Given the description of an element on the screen output the (x, y) to click on. 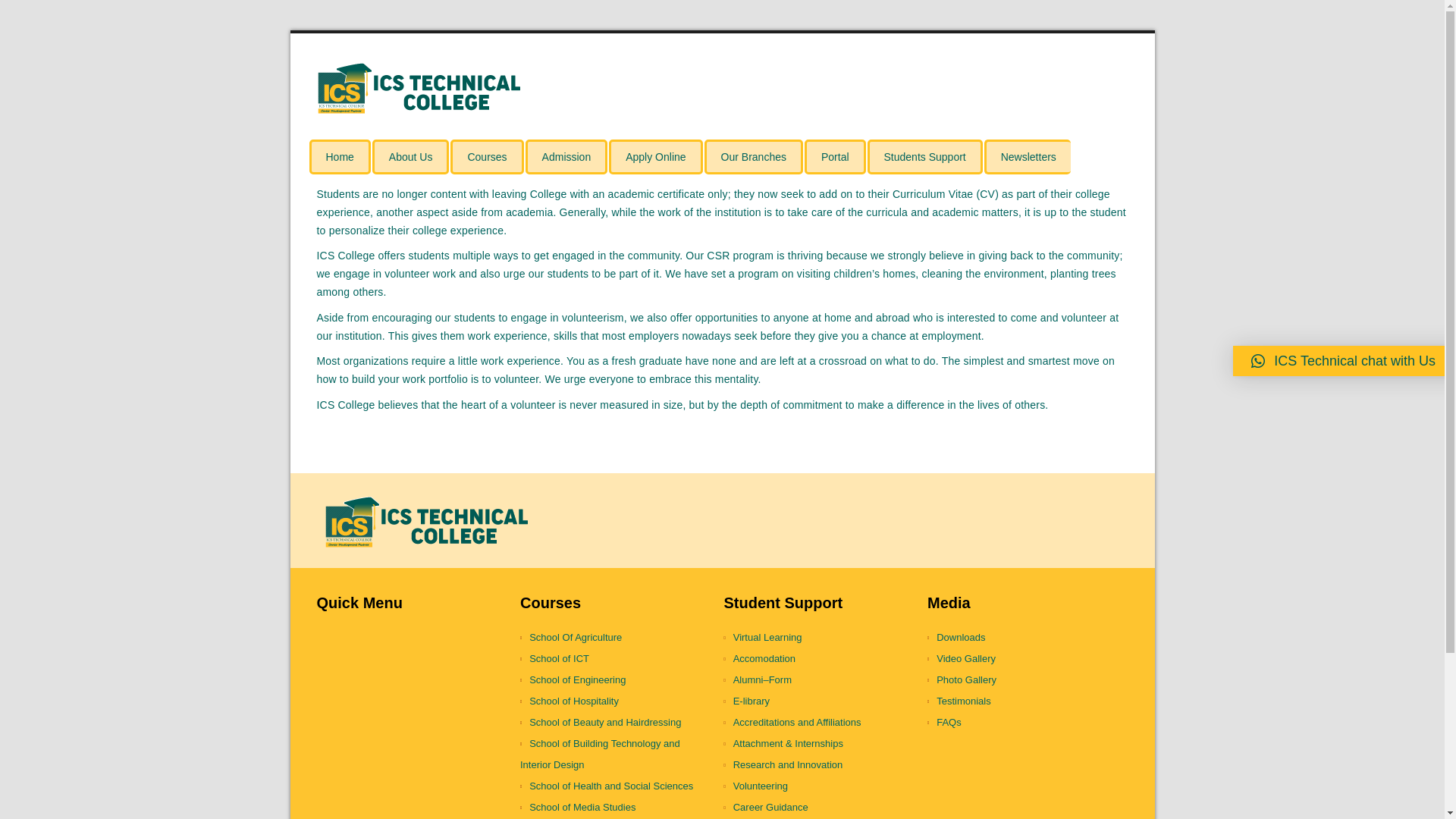
School of Hospitality (615, 701)
School of Health and Social Sciences (615, 785)
Virtual Learning (819, 637)
Photo Gallery (1023, 680)
Home (339, 156)
School of Engineering (615, 680)
Courses (485, 156)
E-library (819, 701)
Testimonials (1023, 701)
Apply Online (654, 156)
School of Media Studies (615, 807)
Students Support (924, 156)
Research and Innovation (819, 764)
FAQs (1023, 722)
